Given the description of an element on the screen output the (x, y) to click on. 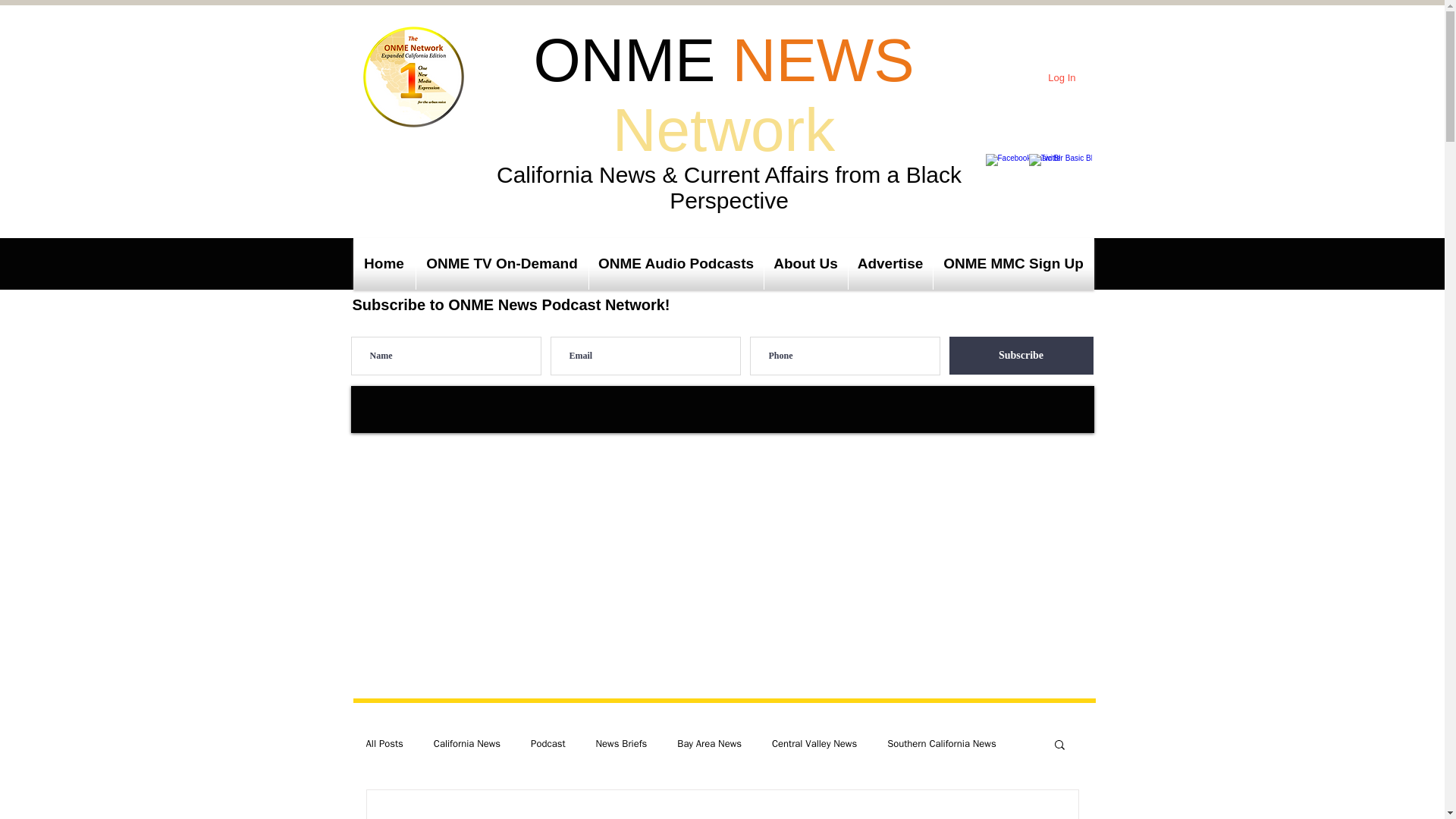
About Us (805, 263)
All Posts (384, 744)
Central Valley News (814, 744)
ONME Audio Podcasts (675, 263)
Southern California News (940, 744)
ONME NEWS Network (723, 94)
California News (466, 744)
ONME TV On-Demand (501, 263)
Bay Area News (709, 744)
Log In (1061, 77)
